Given the description of an element on the screen output the (x, y) to click on. 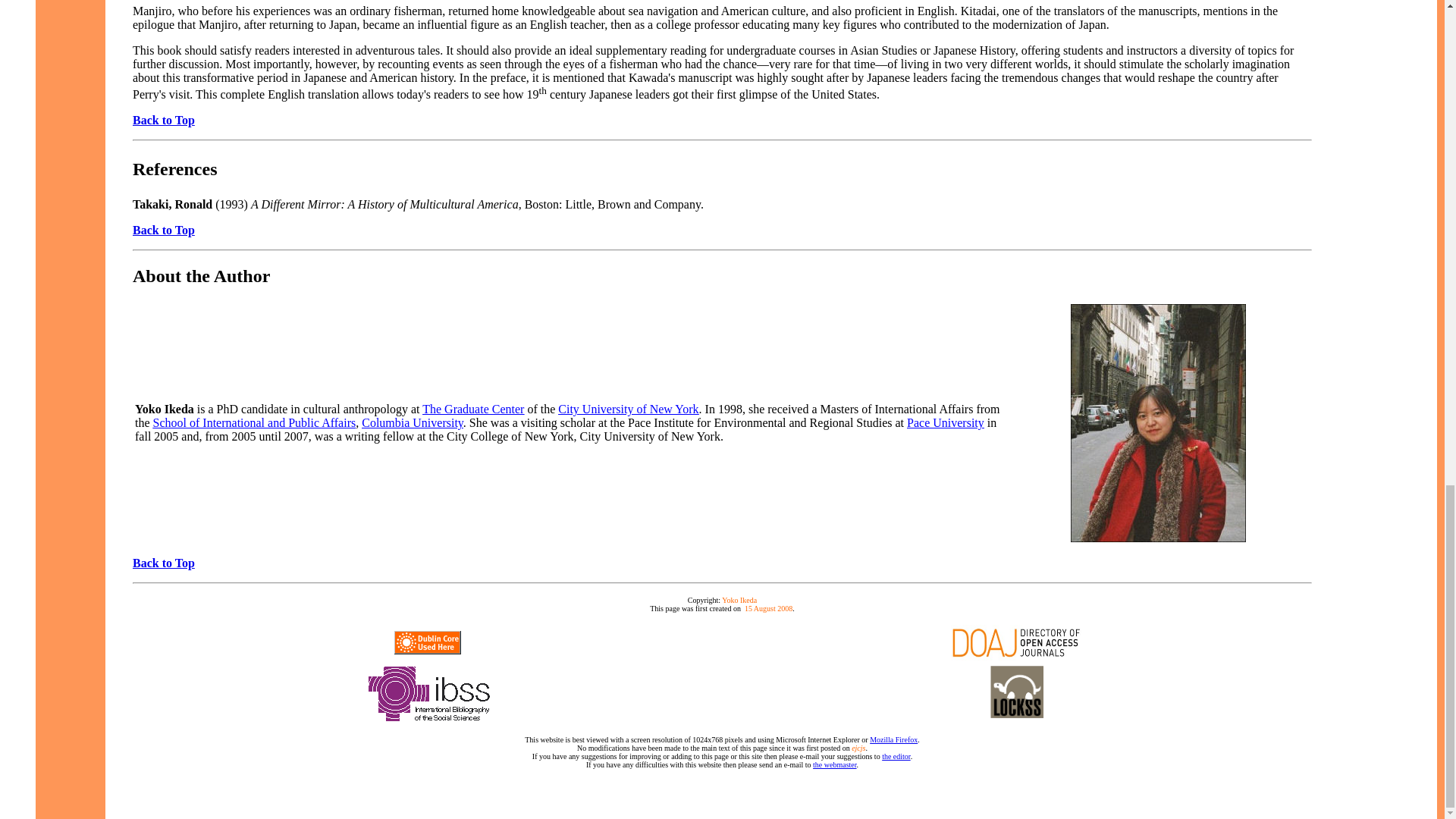
Back to Top (163, 229)
City University of New York (627, 408)
About the Author (200, 275)
Back to Top (163, 119)
Mozilla Firefox (893, 739)
School of International and Public Affairs (254, 422)
the webmaster (834, 764)
Back to Top (163, 562)
Pace University (945, 422)
the editor (896, 756)
